Given the description of an element on the screen output the (x, y) to click on. 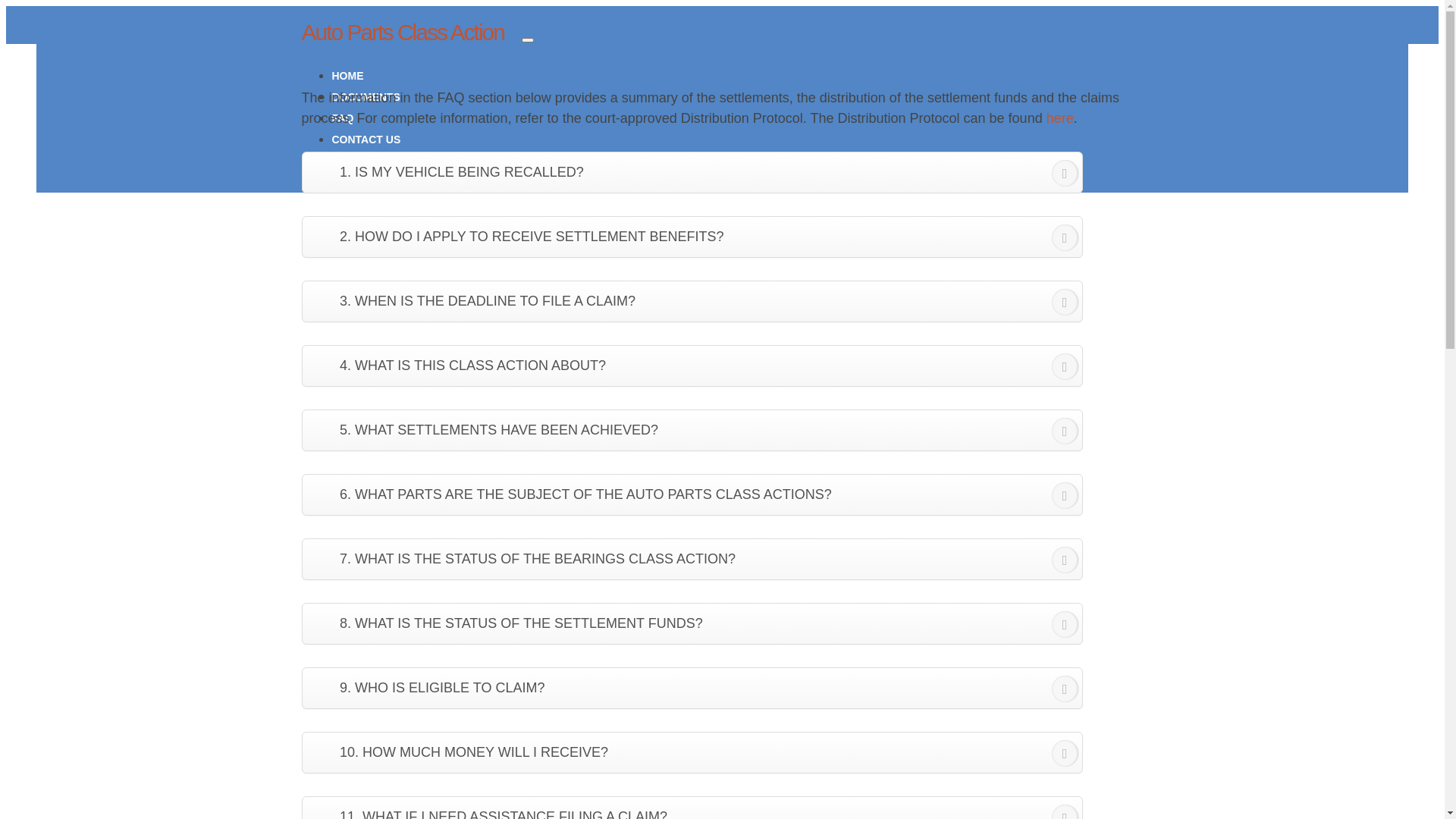
DOCUMENTS Element type: text (366, 97)
FAQ Element type: text (343, 118)
HOME Element type: text (348, 75)
Auto Parts Class Action Element type: text (402, 31)
CONTACT US Element type: text (366, 139)
here Element type: text (1059, 117)
CLAIM NOW Element type: text (363, 181)
